Given the description of an element on the screen output the (x, y) to click on. 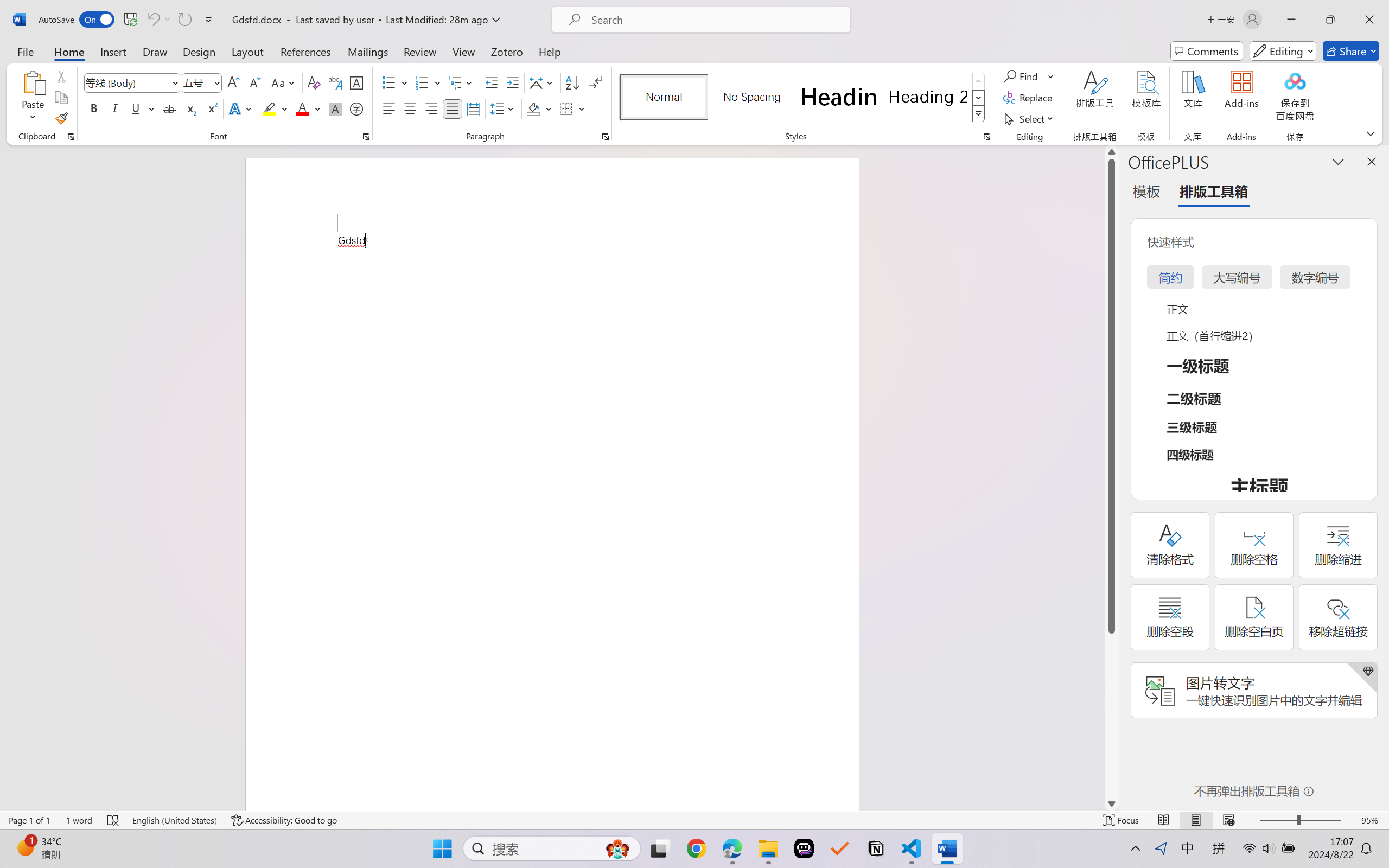
AutomationID: QuickStylesGallery (802, 97)
Class: NetUIScrollBar (1111, 477)
Font Color Red (302, 108)
Task Pane Options (1338, 161)
Class: MsoCommandBar (694, 819)
